Given the description of an element on the screen output the (x, y) to click on. 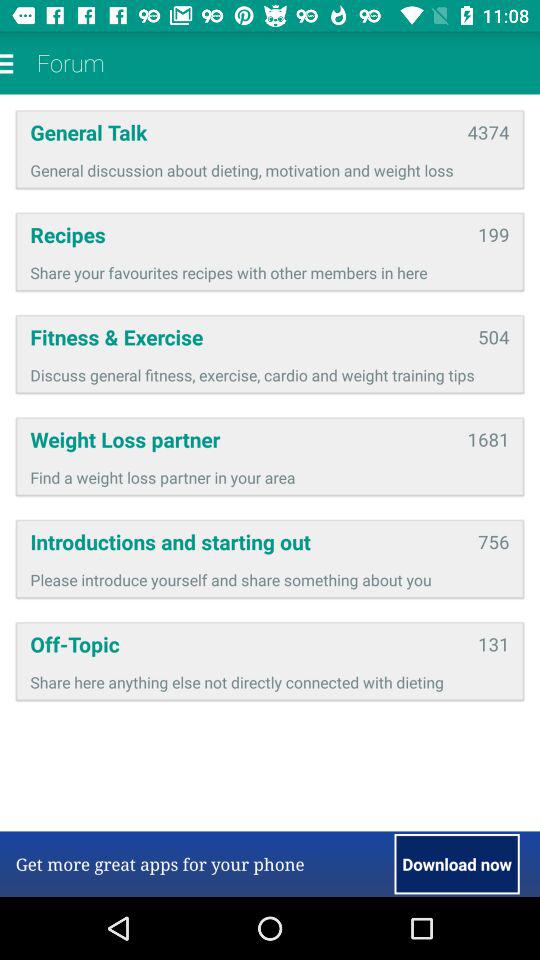
open the 131 app (493, 643)
